Given the description of an element on the screen output the (x, y) to click on. 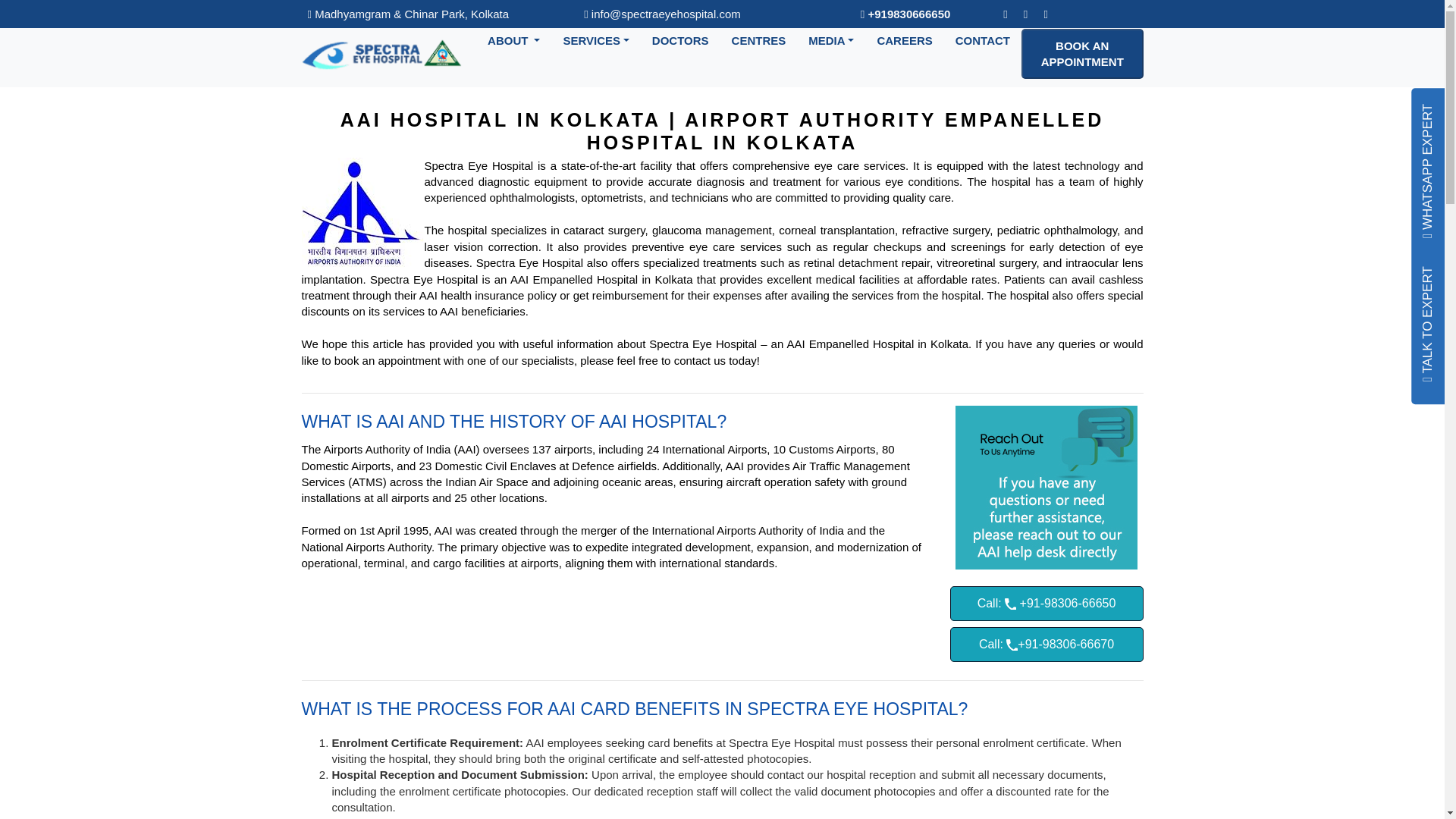
ABOUT (513, 38)
Spectra Eye Hospital (382, 52)
CONTACT (982, 38)
MEDIA (830, 38)
CAREERS (903, 38)
DOCTORS (680, 38)
CENTRES (758, 38)
SERVICES (595, 38)
BOOK AN APPOINTMENT (1082, 53)
